Given the description of an element on the screen output the (x, y) to click on. 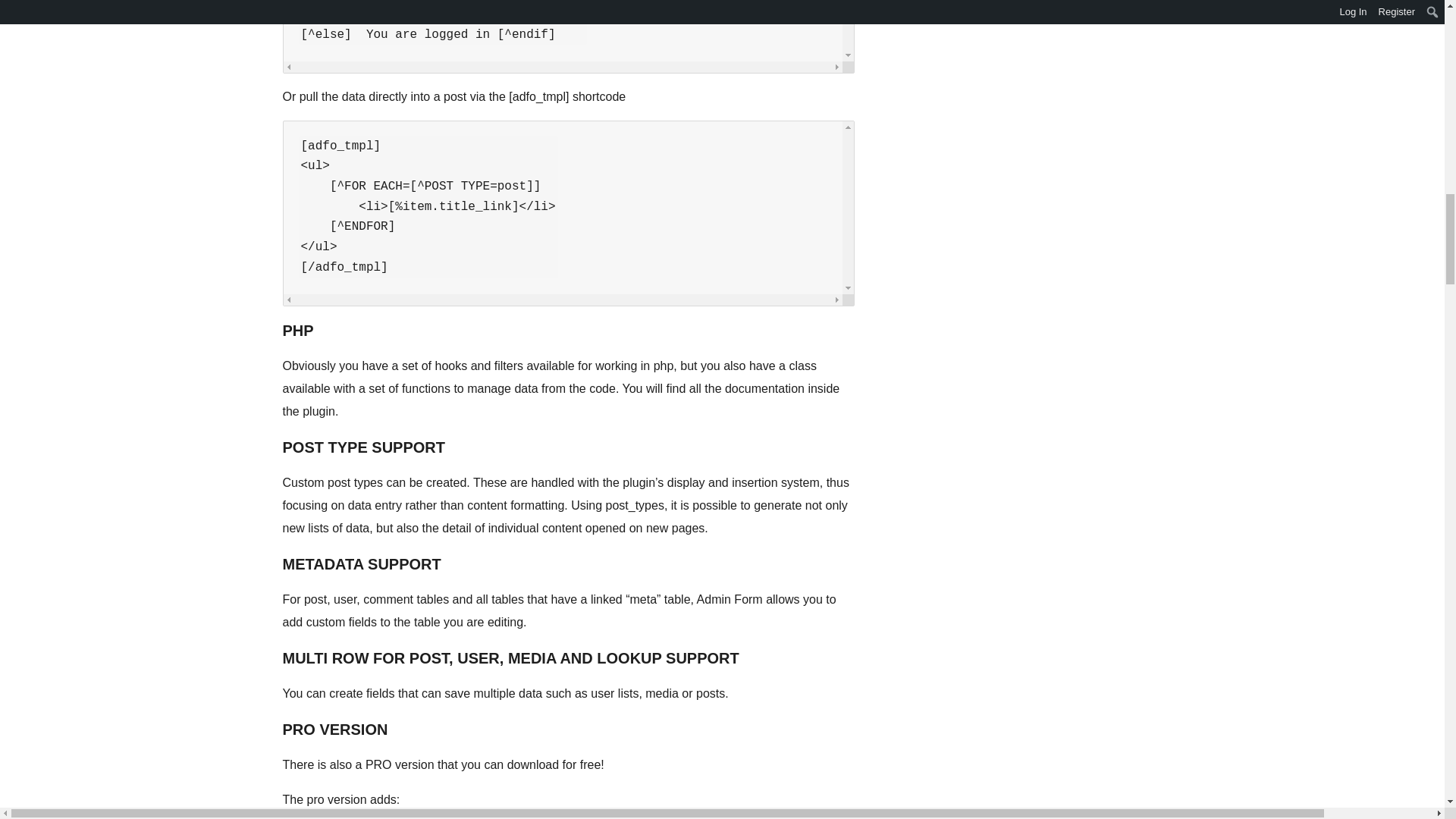
The calculated fields (347, 817)
